Given the description of an element on the screen output the (x, y) to click on. 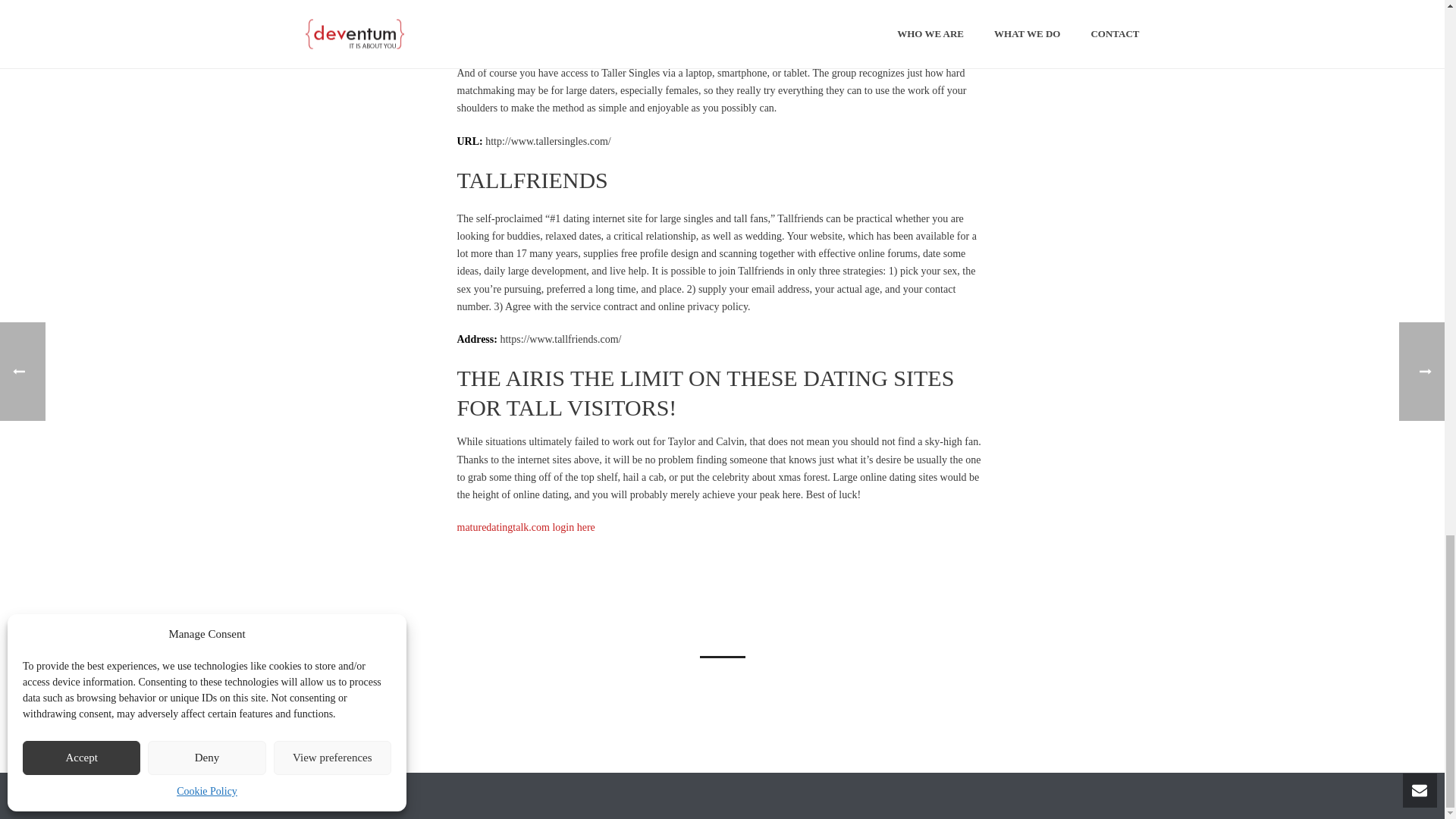
maturedatingtalk.com login here (525, 527)
Print (667, 598)
